Given the description of an element on the screen output the (x, y) to click on. 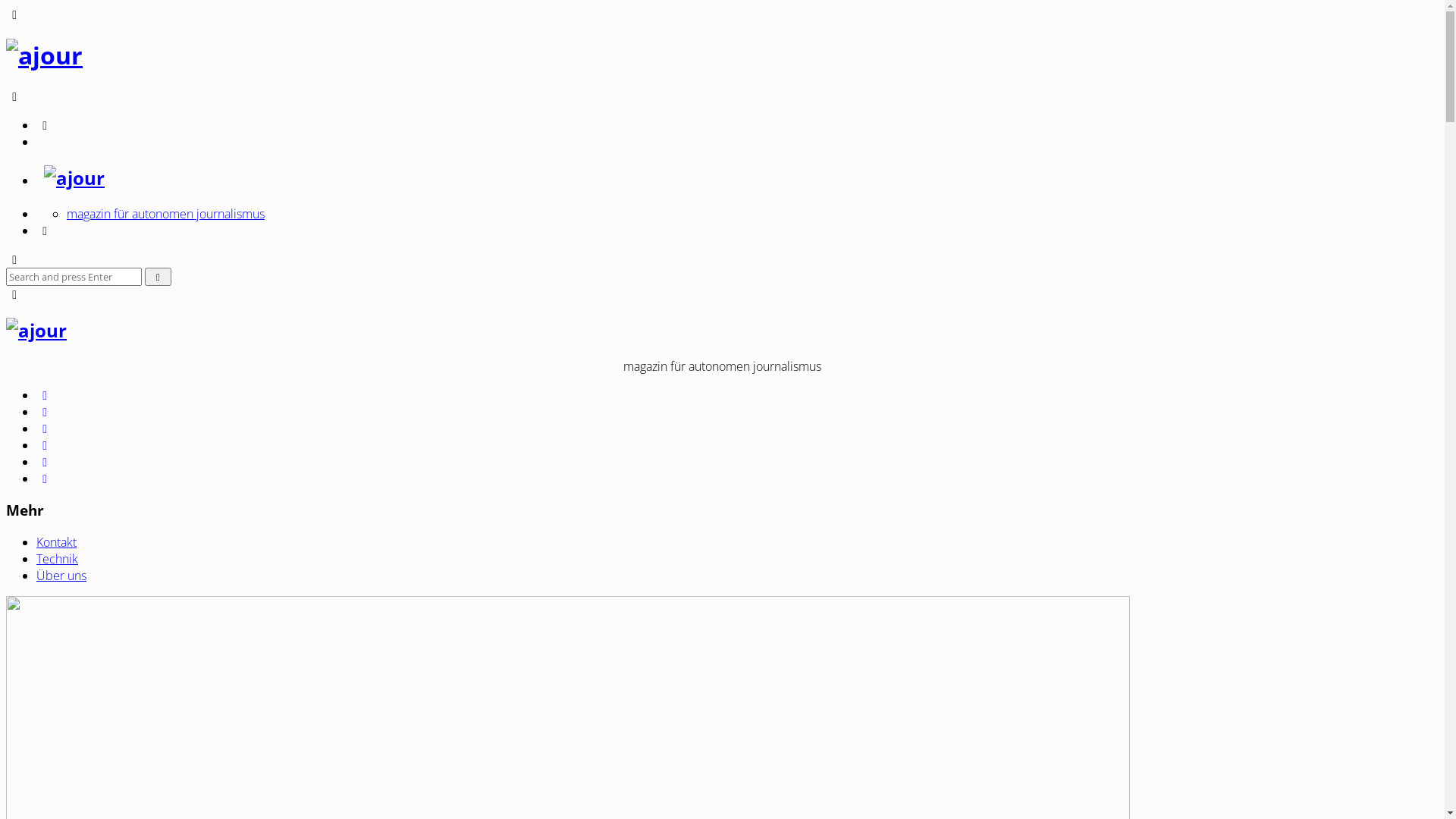
Kontakt Element type: text (56, 541)
Search Element type: text (157, 276)
Technik Element type: text (57, 558)
